Given the description of an element on the screen output the (x, y) to click on. 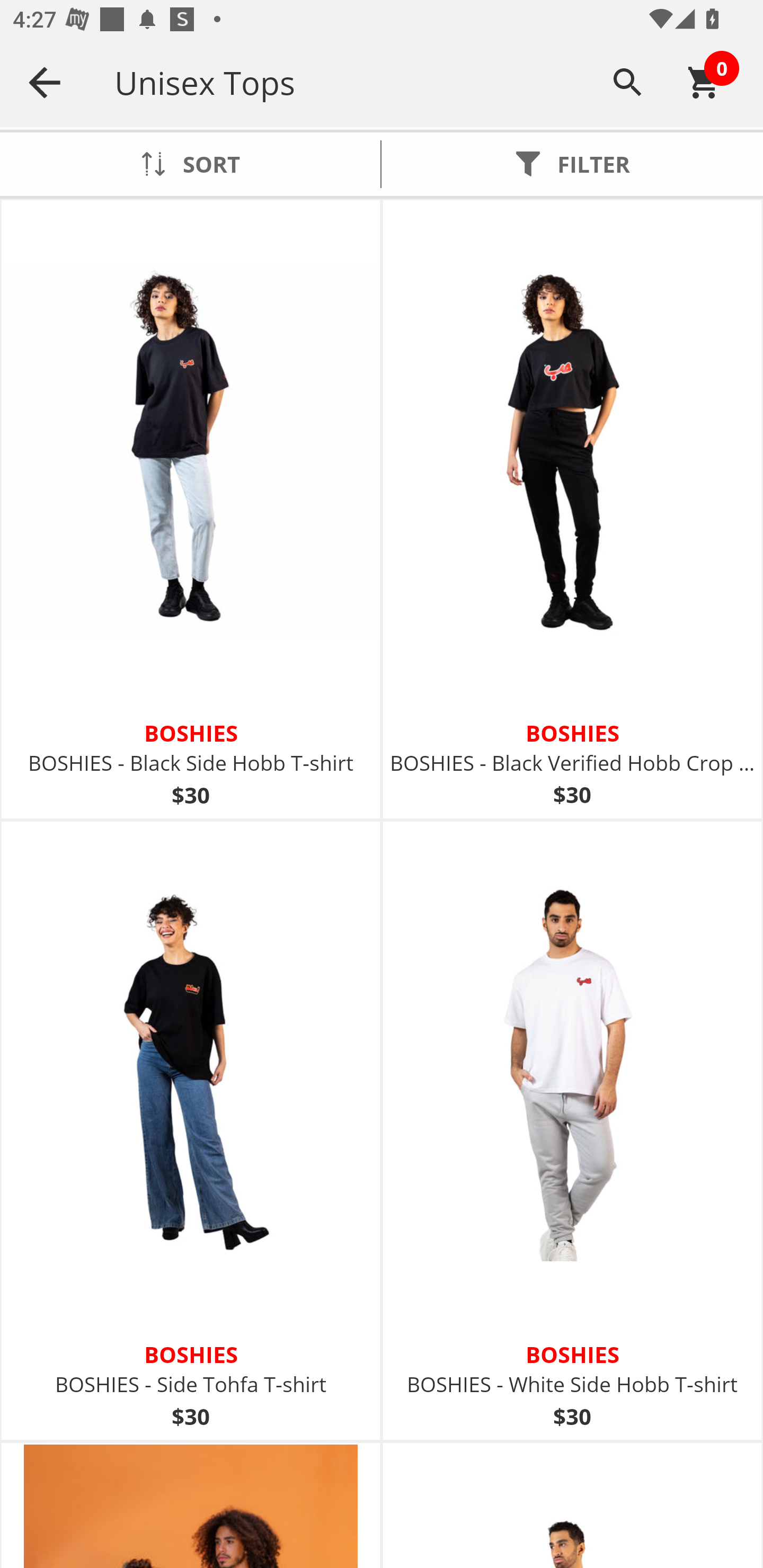
Navigate up (44, 82)
SORT (190, 163)
FILTER (572, 163)
BOSHIES BOSHIES - Black Side Hobb T-shirt $30 (190, 509)
BOSHIES BOSHIES - Black Verified Hobb Crop Top $30 (572, 509)
BOSHIES BOSHIES - Side Tohfa T-shirt $30 (190, 1130)
BOSHIES BOSHIES - White Side Hobb T-shirt $30 (572, 1130)
